Given the description of an element on the screen output the (x, y) to click on. 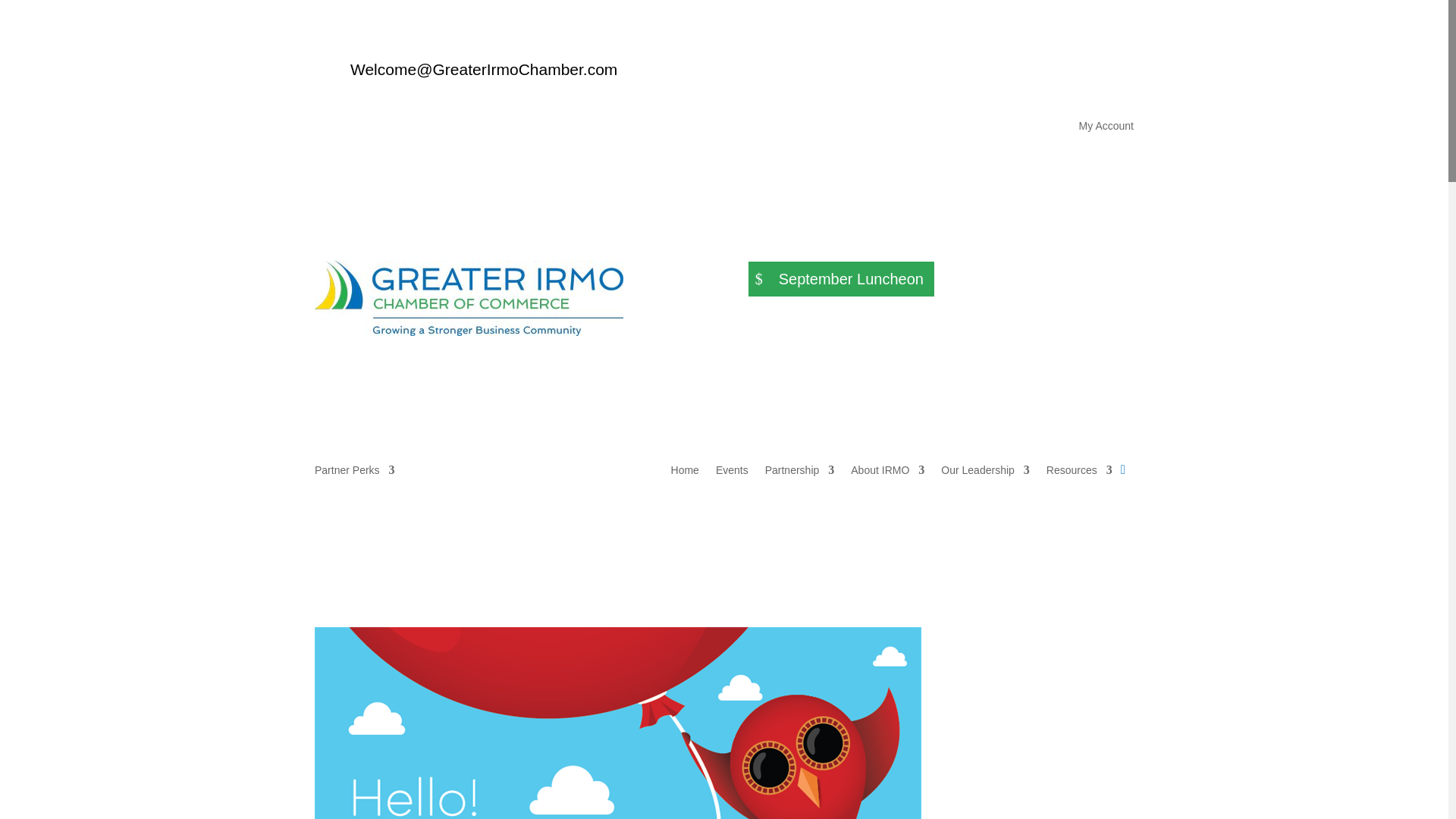
Partnership (799, 473)
Follow on Instagram (1121, 73)
Follow on Facebook (1090, 73)
September Luncheon (841, 279)
Resources (1079, 473)
Events (732, 473)
Our Leadership (984, 473)
My Account (1106, 128)
About IRMO (887, 473)
Partner Perks (354, 473)
